Given the description of an element on the screen output the (x, y) to click on. 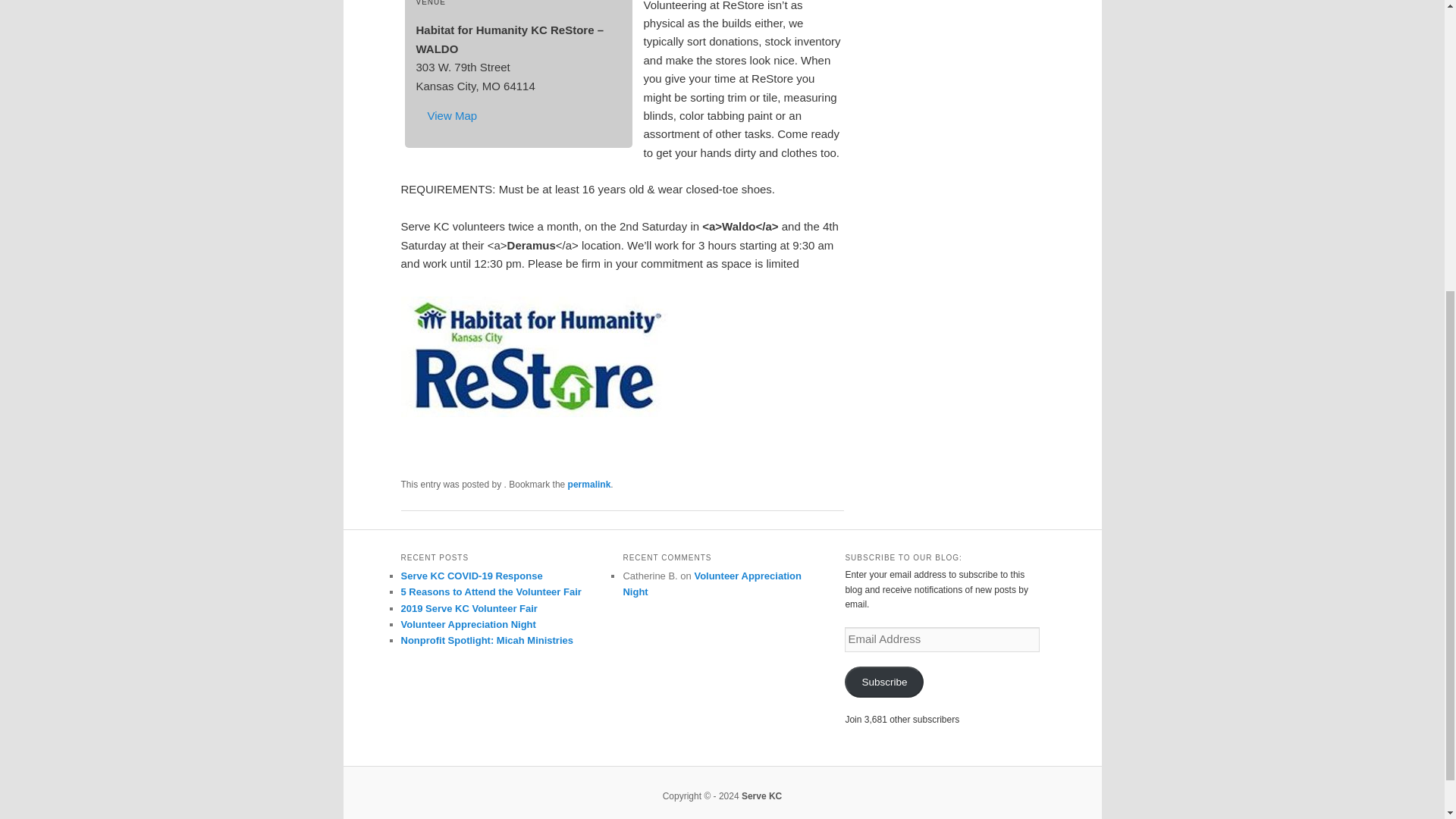
2019 Serve KC Volunteer Fair (468, 608)
Volunteer Appreciation Night (467, 624)
permalink (589, 484)
5 Reasons to Attend the Volunteer Fair (490, 591)
View Map (452, 115)
Volunteer Appreciation Night (712, 583)
Nonprofit Spotlight: Micah Ministries (486, 640)
Subscribe (883, 681)
Serve KC (761, 796)
Serve KC COVID-19 Response (470, 575)
